Given the description of an element on the screen output the (x, y) to click on. 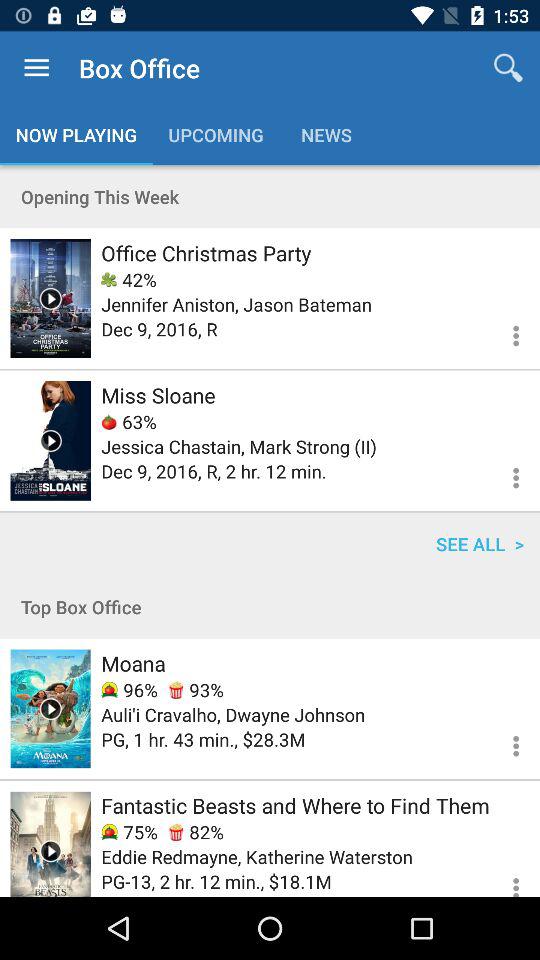
play the movie trailer (50, 440)
